Given the description of an element on the screen output the (x, y) to click on. 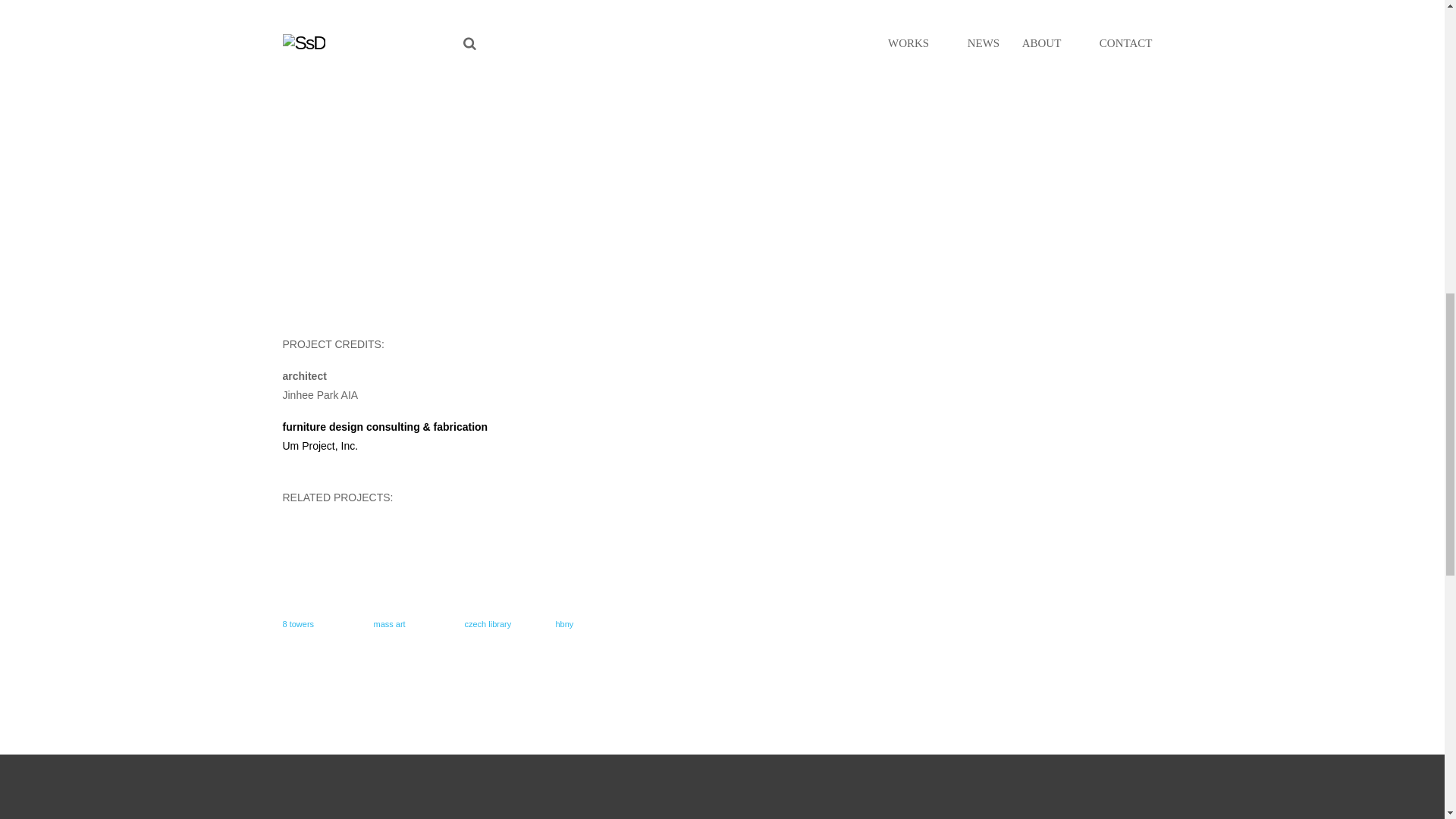
8 towers (298, 623)
czech library (502, 558)
czech library (487, 623)
hbny (592, 558)
mass college of art (410, 558)
mass art (388, 623)
hbny (563, 623)
